Given the description of an element on the screen output the (x, y) to click on. 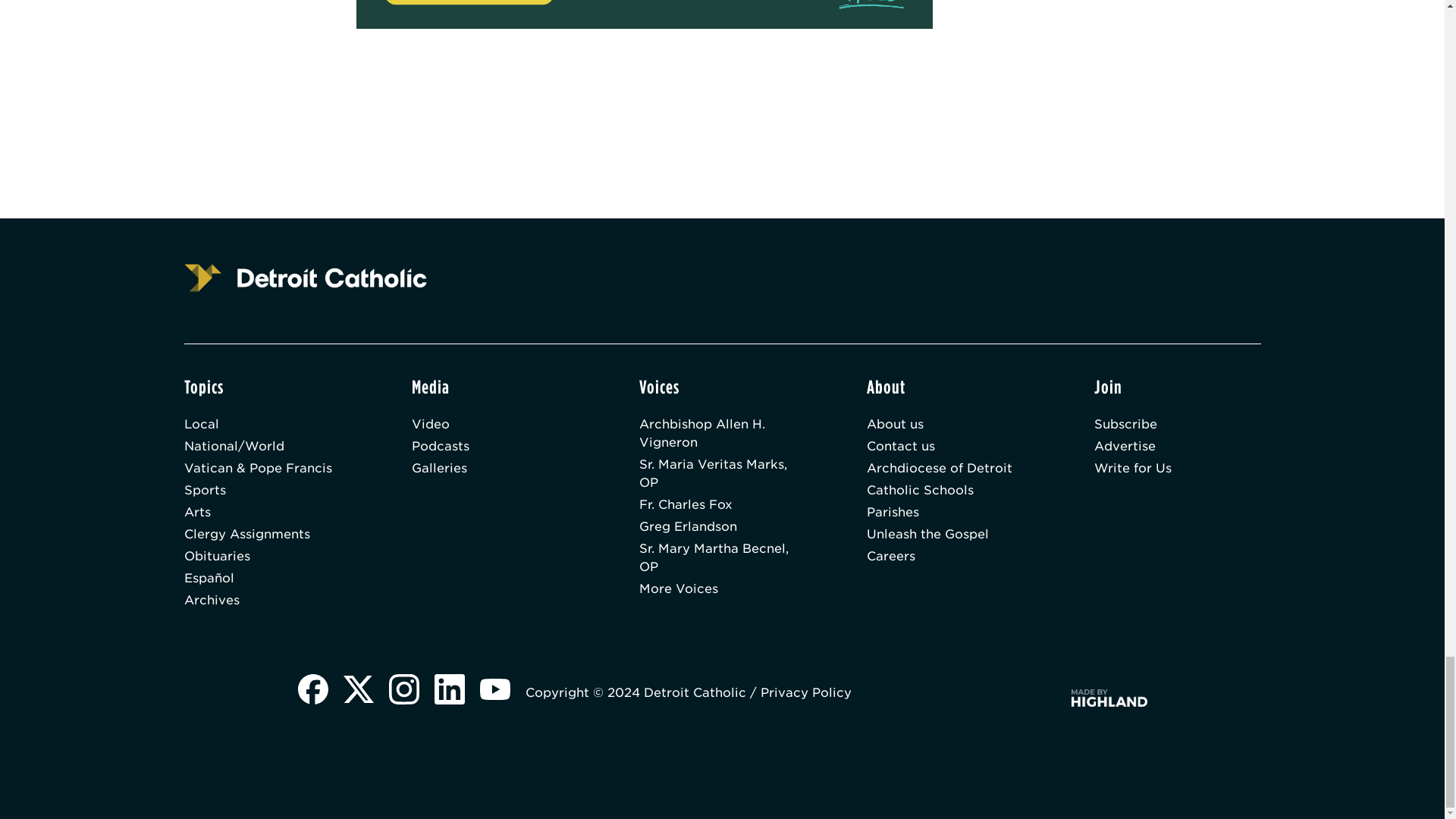
LinkedIn (448, 691)
Facebook (312, 691)
Instagram (403, 691)
Twitter (357, 691)
Youtube (494, 691)
AOD-IAM: July Article Bottom (644, 14)
